Given the description of an element on the screen output the (x, y) to click on. 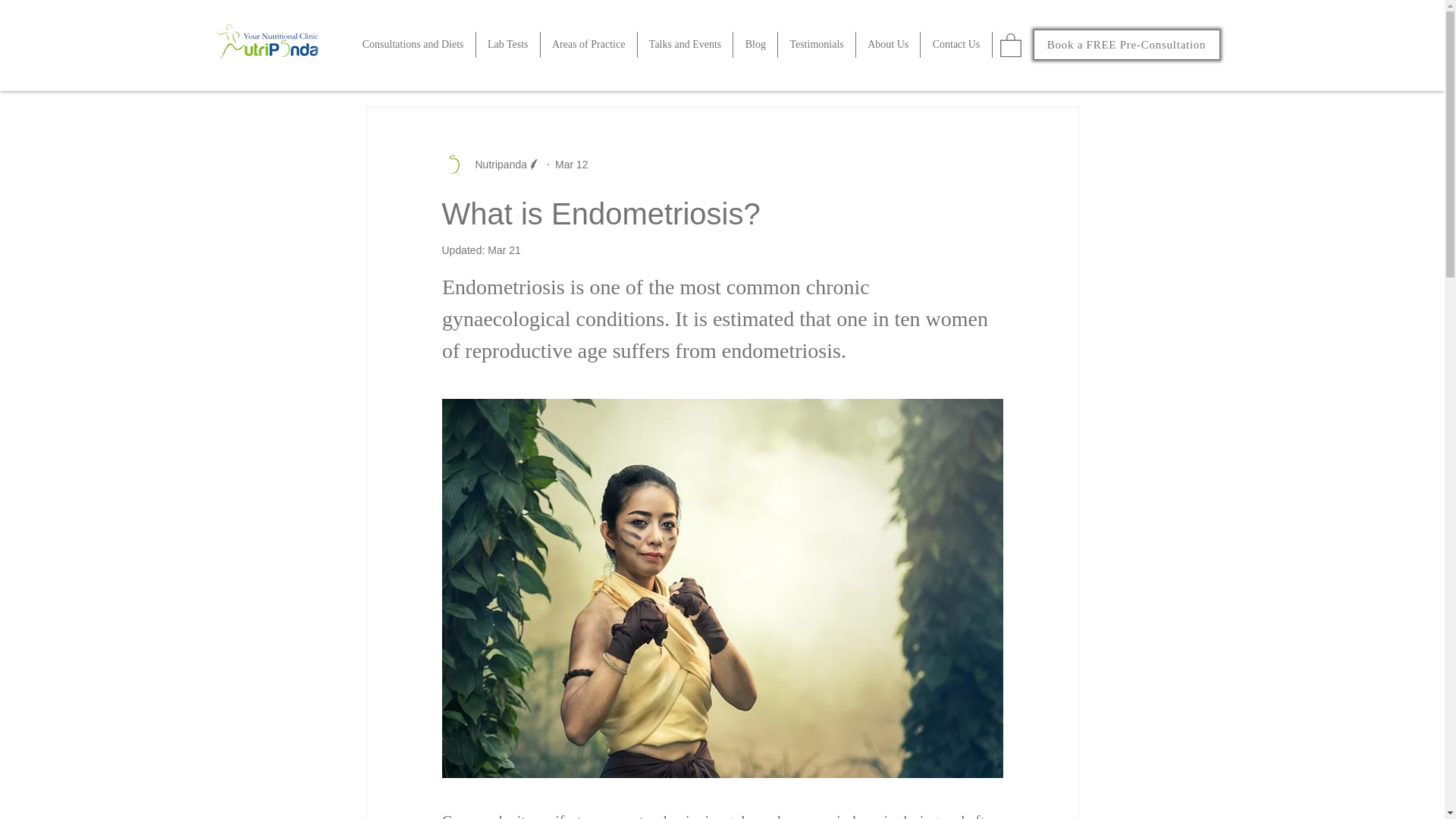
About Us (888, 44)
Lab Tests (508, 44)
Areas of Practice (588, 44)
Contact Us (955, 44)
Mar 21 (504, 250)
Nutripanda (496, 164)
transparent logo.png (274, 44)
Book a FREE Pre-Consultation (1126, 44)
Talks and Events (685, 44)
Consultations and Diets (413, 44)
